Given the description of an element on the screen output the (x, y) to click on. 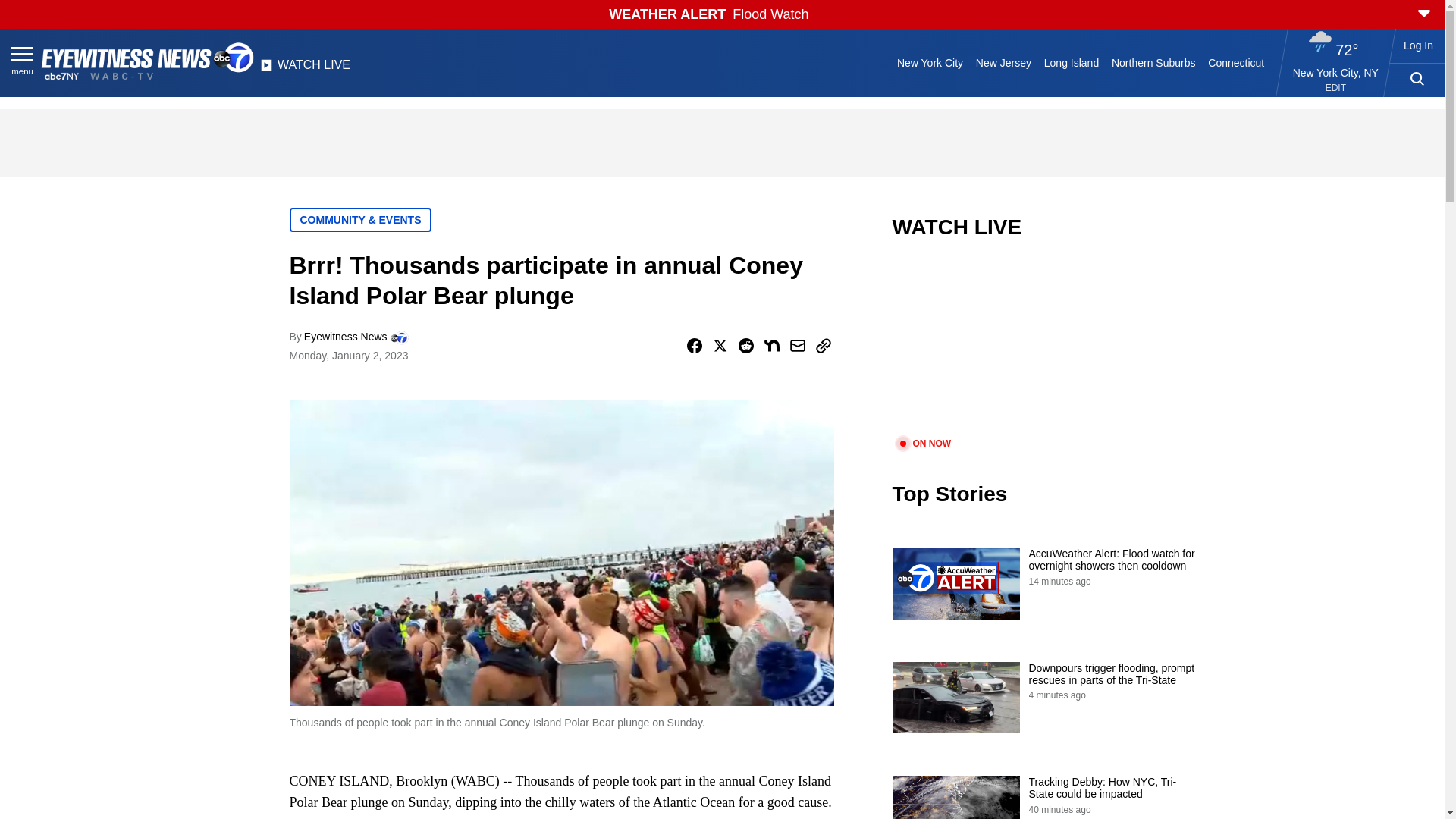
Long Island (1070, 62)
New York City, NY (1335, 72)
New York City (930, 62)
Northern Suburbs (1153, 62)
WATCH LIVE (305, 69)
New Jersey (1002, 62)
video.title (1043, 347)
EDIT (1334, 87)
Connecticut (1236, 62)
